Given the description of an element on the screen output the (x, y) to click on. 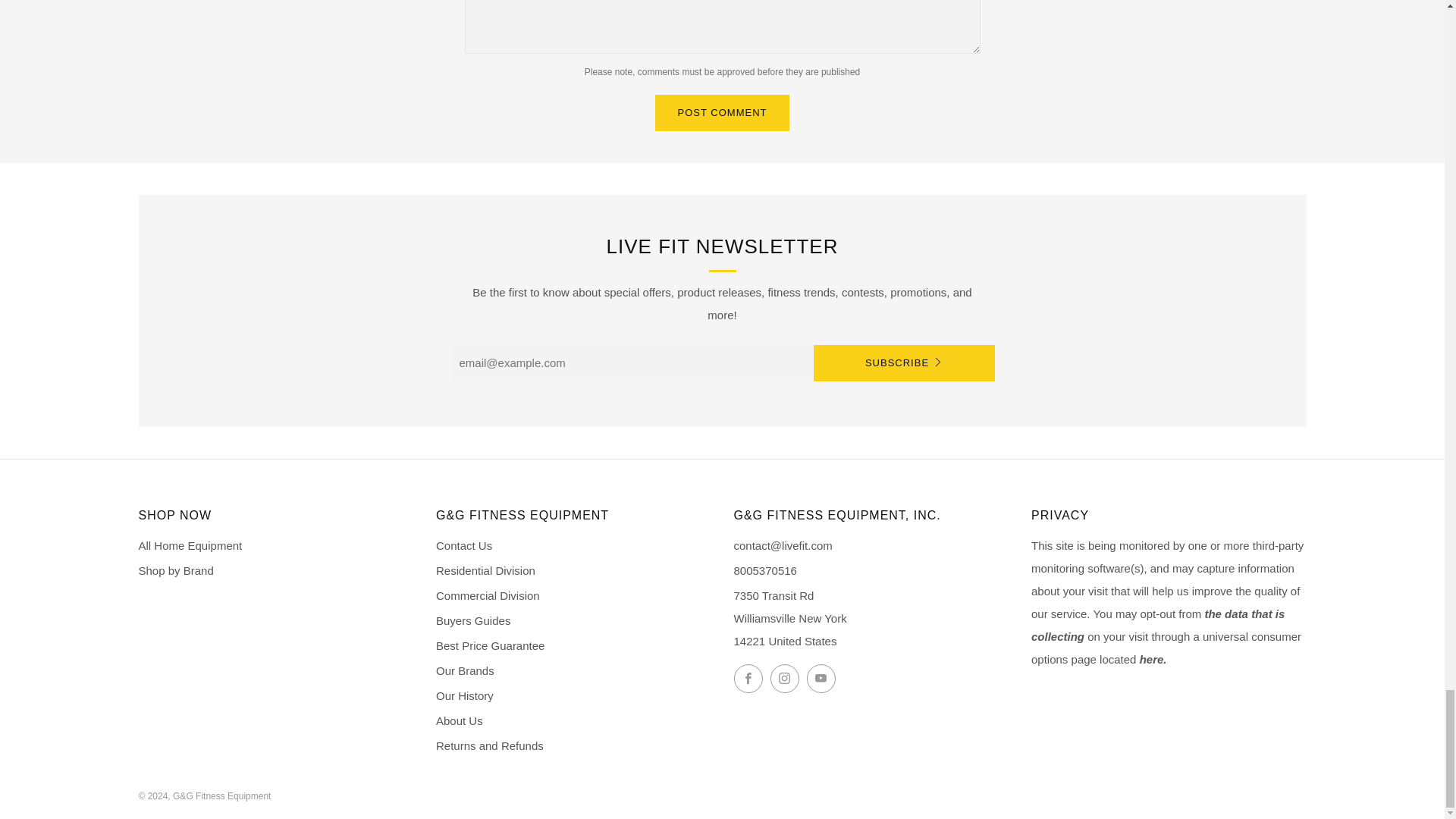
Post comment (722, 113)
